Given the description of an element on the screen output the (x, y) to click on. 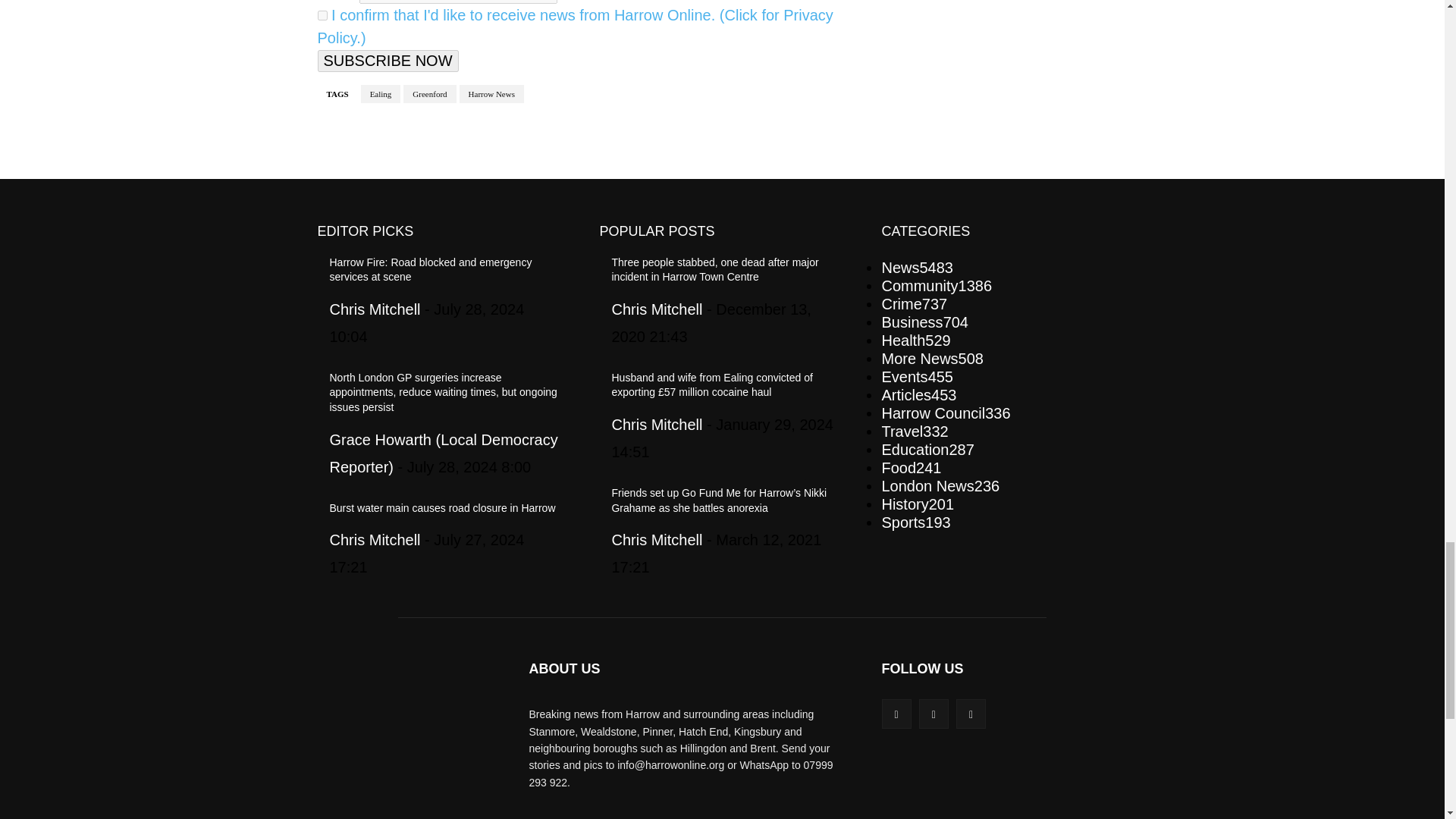
SUBSCRIBE NOW (387, 60)
on (321, 15)
